Given the description of an element on the screen output the (x, y) to click on. 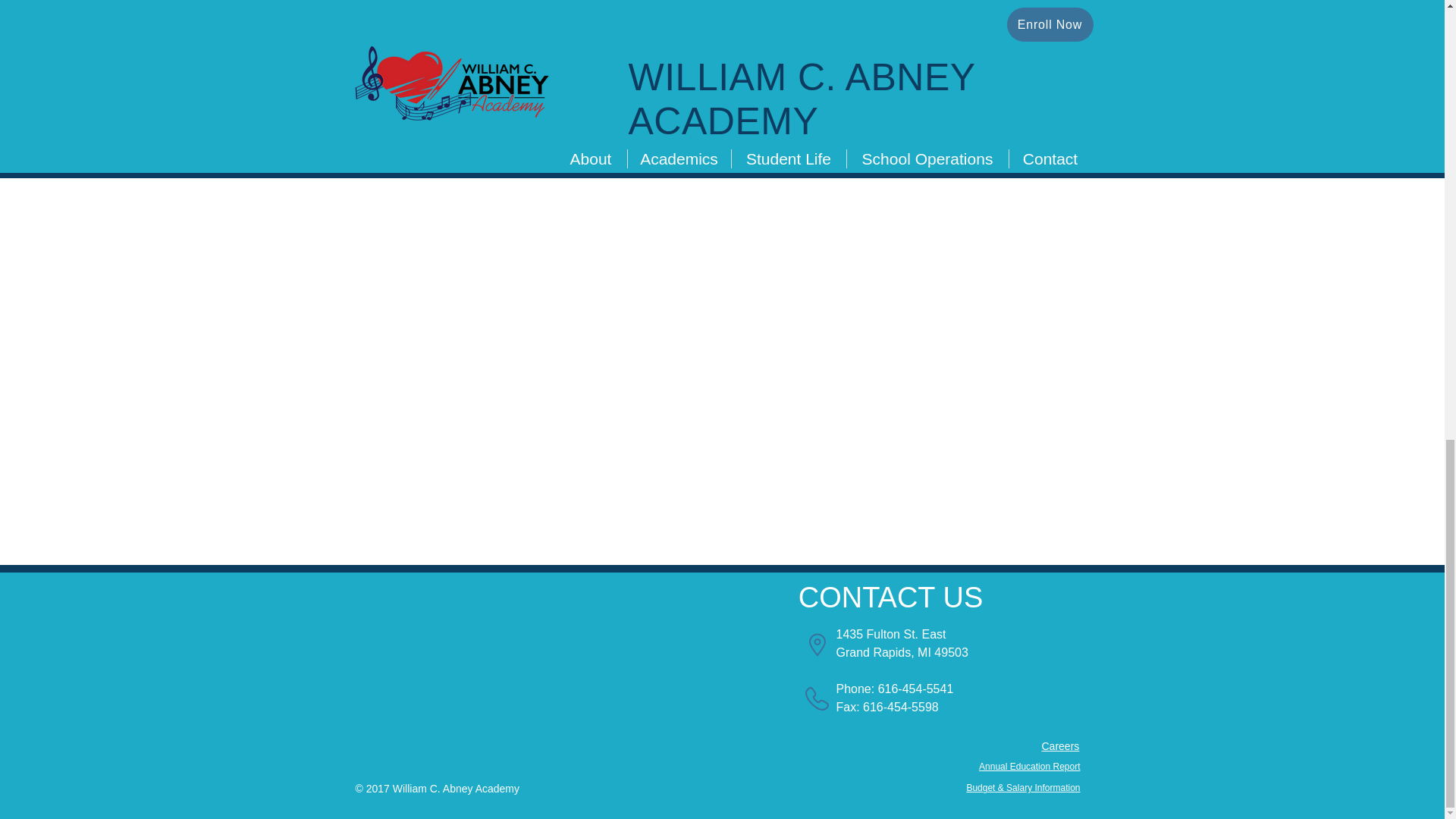
Google Maps (576, 659)
Annual Education Report (1029, 766)
616-454-5541 (915, 688)
Careers (1061, 746)
